Given the description of an element on the screen output the (x, y) to click on. 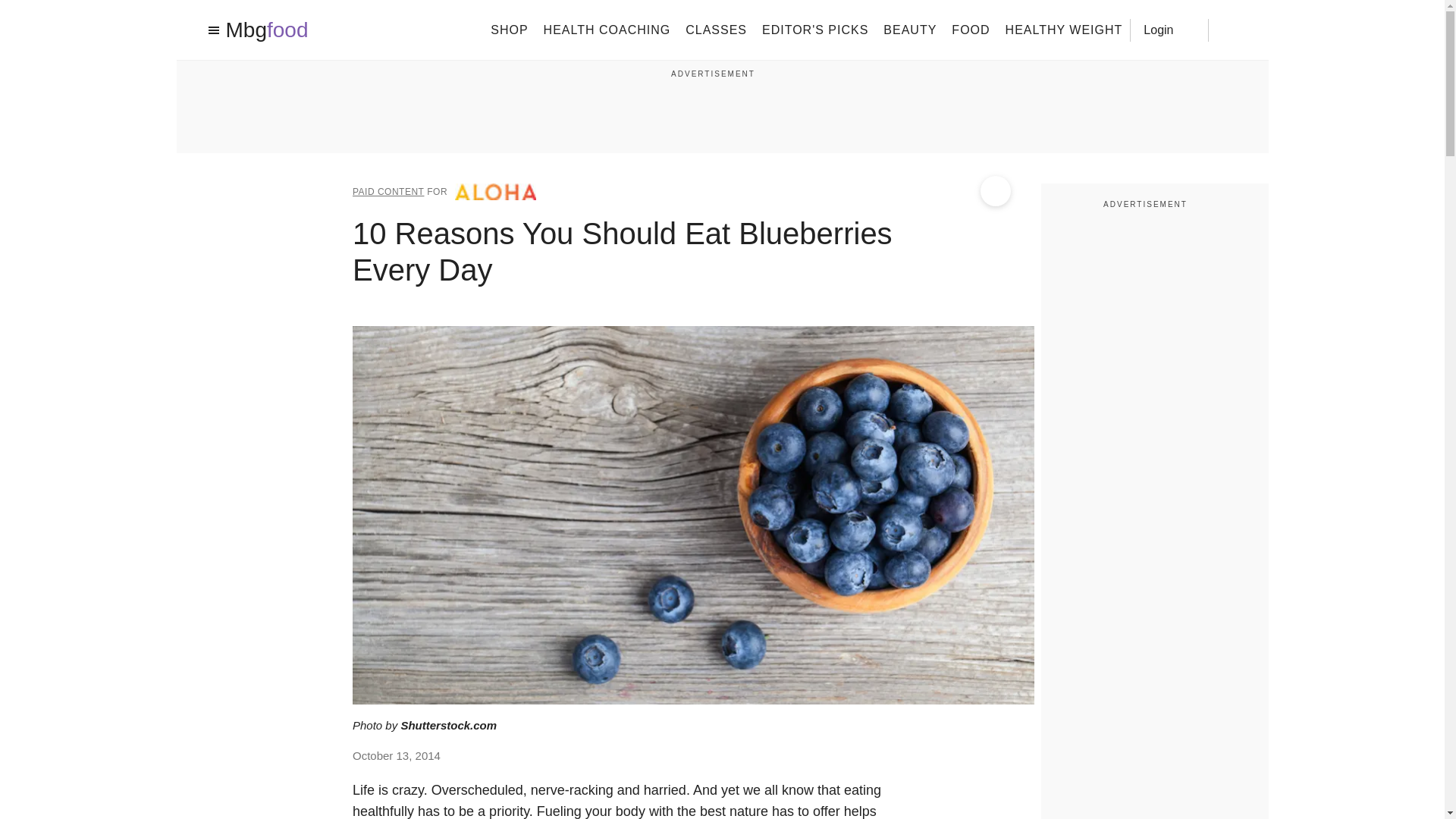
SHOP (508, 29)
Search (1230, 29)
HEALTHY WEIGHT (1064, 29)
FOOD (971, 29)
CLASSES (715, 29)
Login (1168, 29)
PAID CONTENT (387, 191)
BEAUTY (909, 29)
HEALTH COACHING (607, 29)
EDITOR'S PICKS (814, 29)
